Given the description of an element on the screen output the (x, y) to click on. 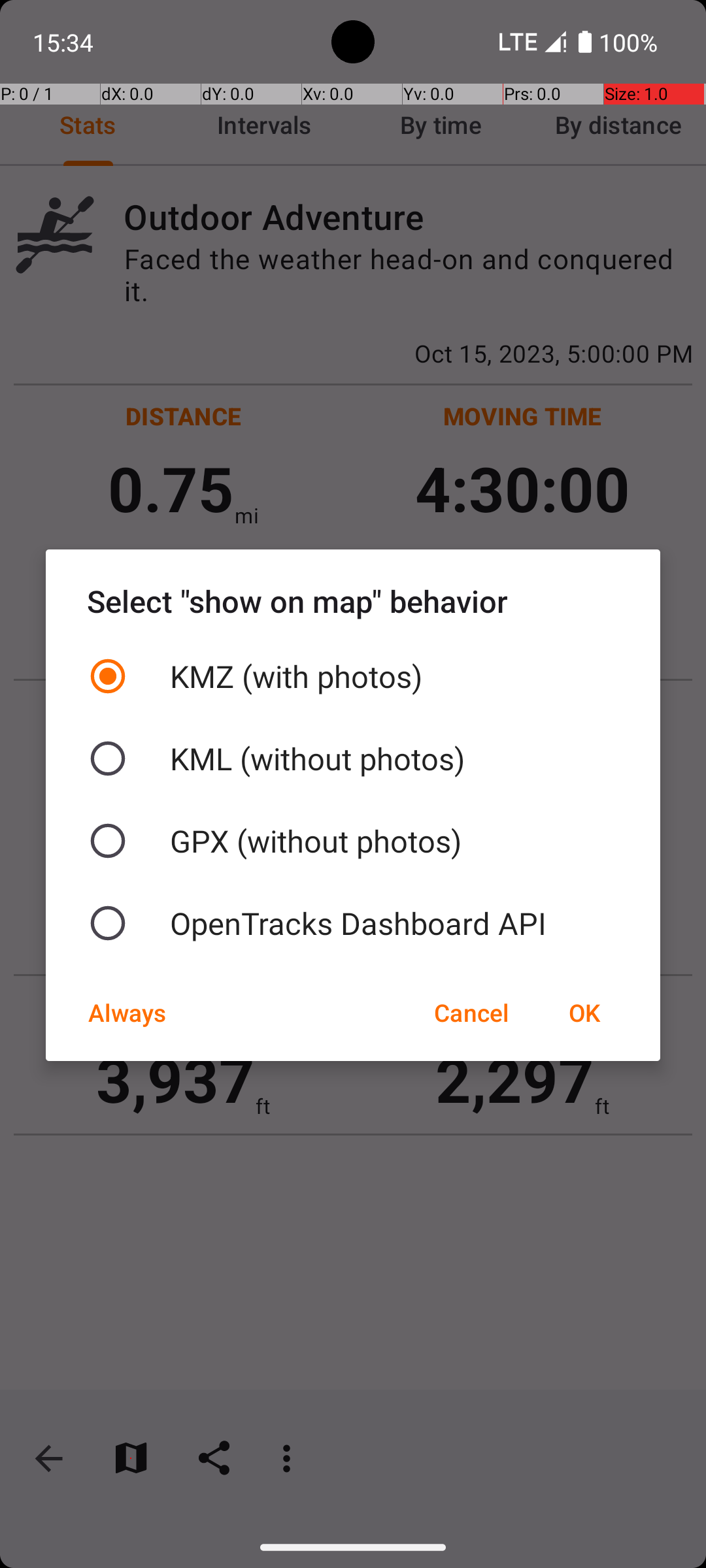
Select "show on map" behavior Element type: android.widget.TextView (352, 600)
KMZ (with photos) Element type: android.widget.CheckedTextView (352, 676)
KML (without photos) Element type: android.widget.CheckedTextView (352, 758)
GPX (without photos) Element type: android.widget.CheckedTextView (352, 840)
OpenTracks Dashboard API Element type: android.widget.CheckedTextView (352, 923)
